Given the description of an element on the screen output the (x, y) to click on. 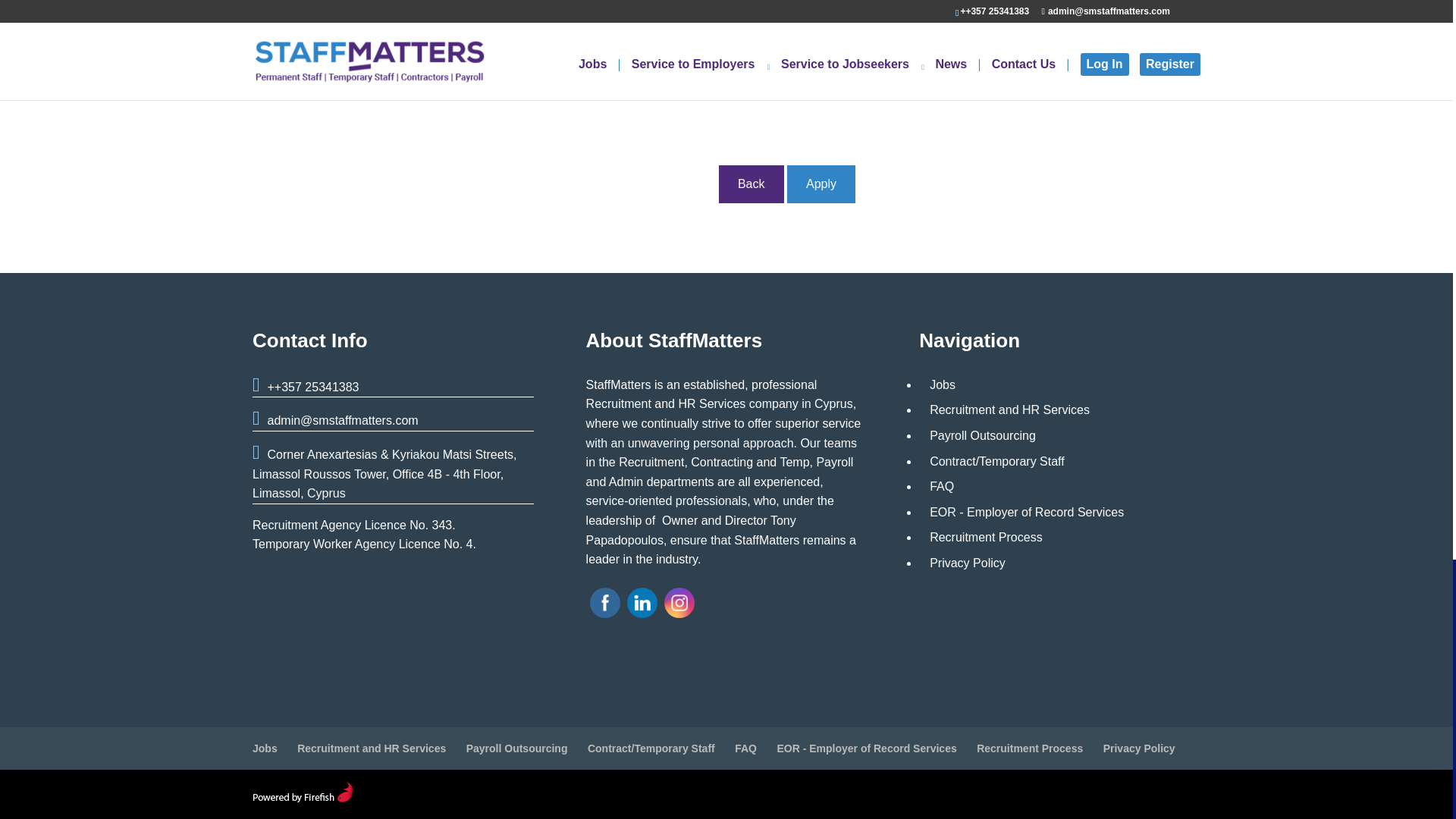
Back (751, 184)
Apply (821, 184)
Facebook (604, 602)
Instagram (679, 602)
LinkedIn (641, 602)
Recruitment Software - Firefish Software (302, 797)
